Given the description of an element on the screen output the (x, y) to click on. 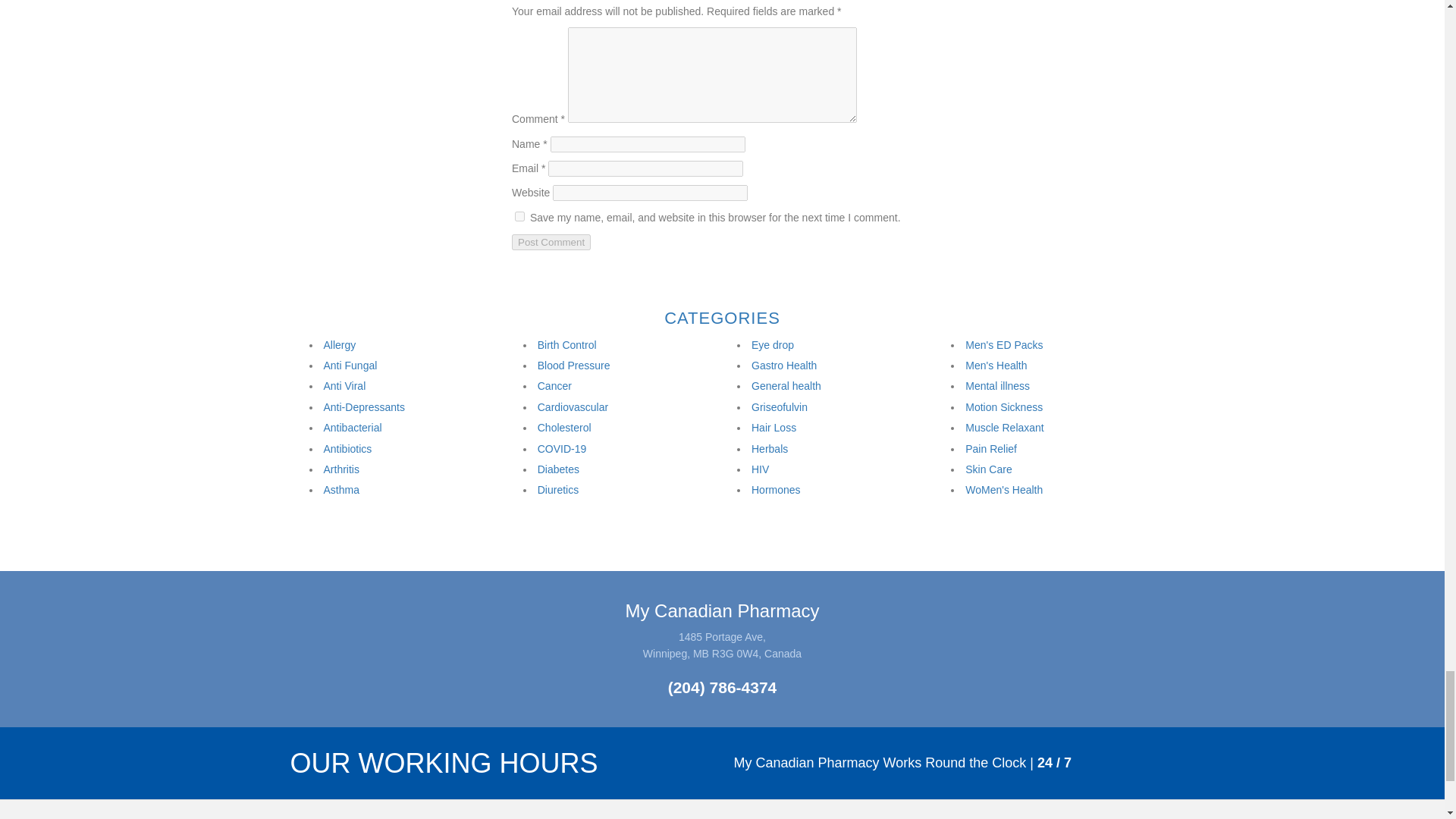
yes (519, 216)
Post Comment (551, 242)
Post Comment (551, 242)
